Given the description of an element on the screen output the (x, y) to click on. 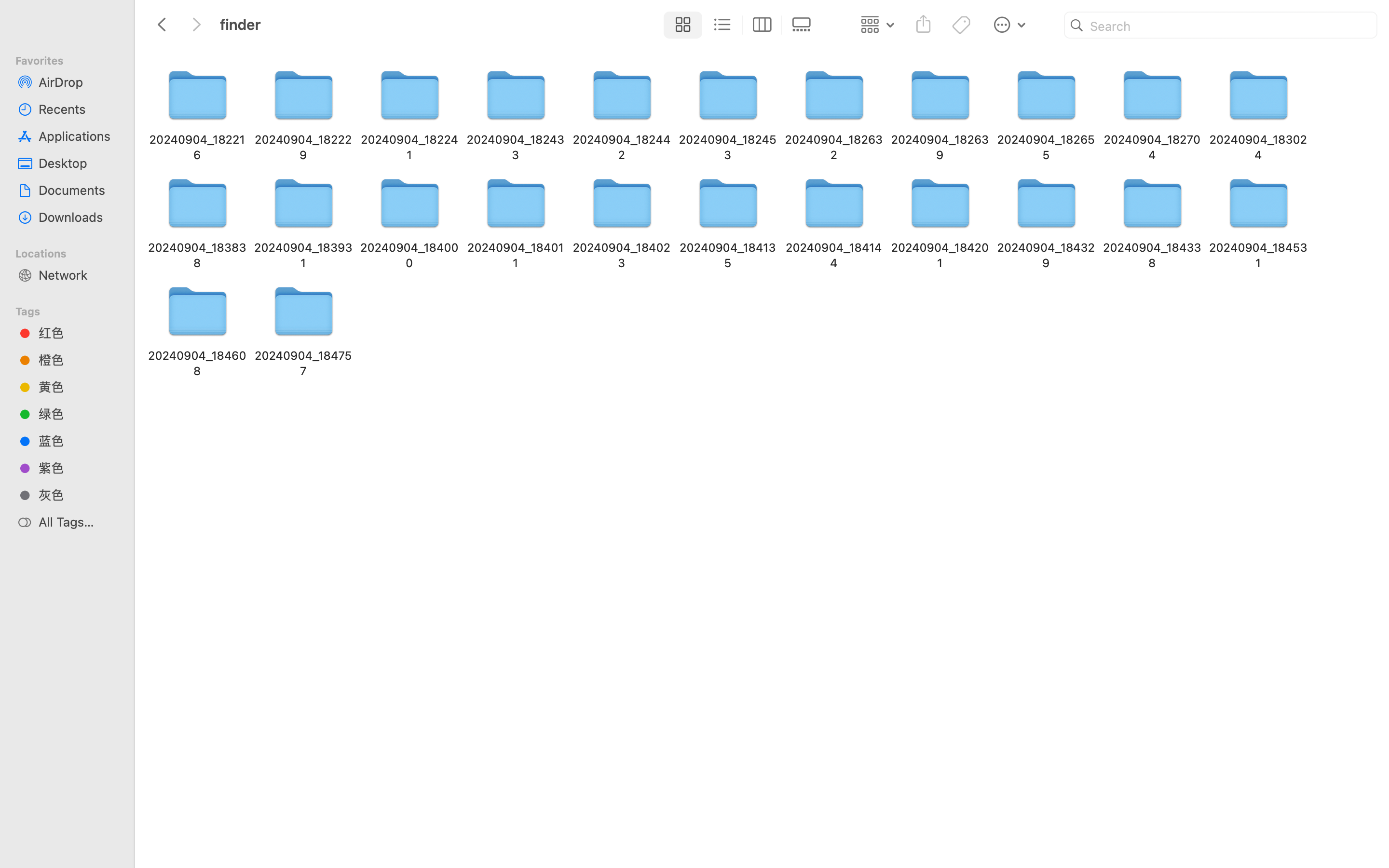
Tags… Element type: AXStaticText (20, 860)
Favorites Element type: AXStaticText (72, 59)
灰色 Element type: AXStaticText (77, 494)
